Given the description of an element on the screen output the (x, y) to click on. 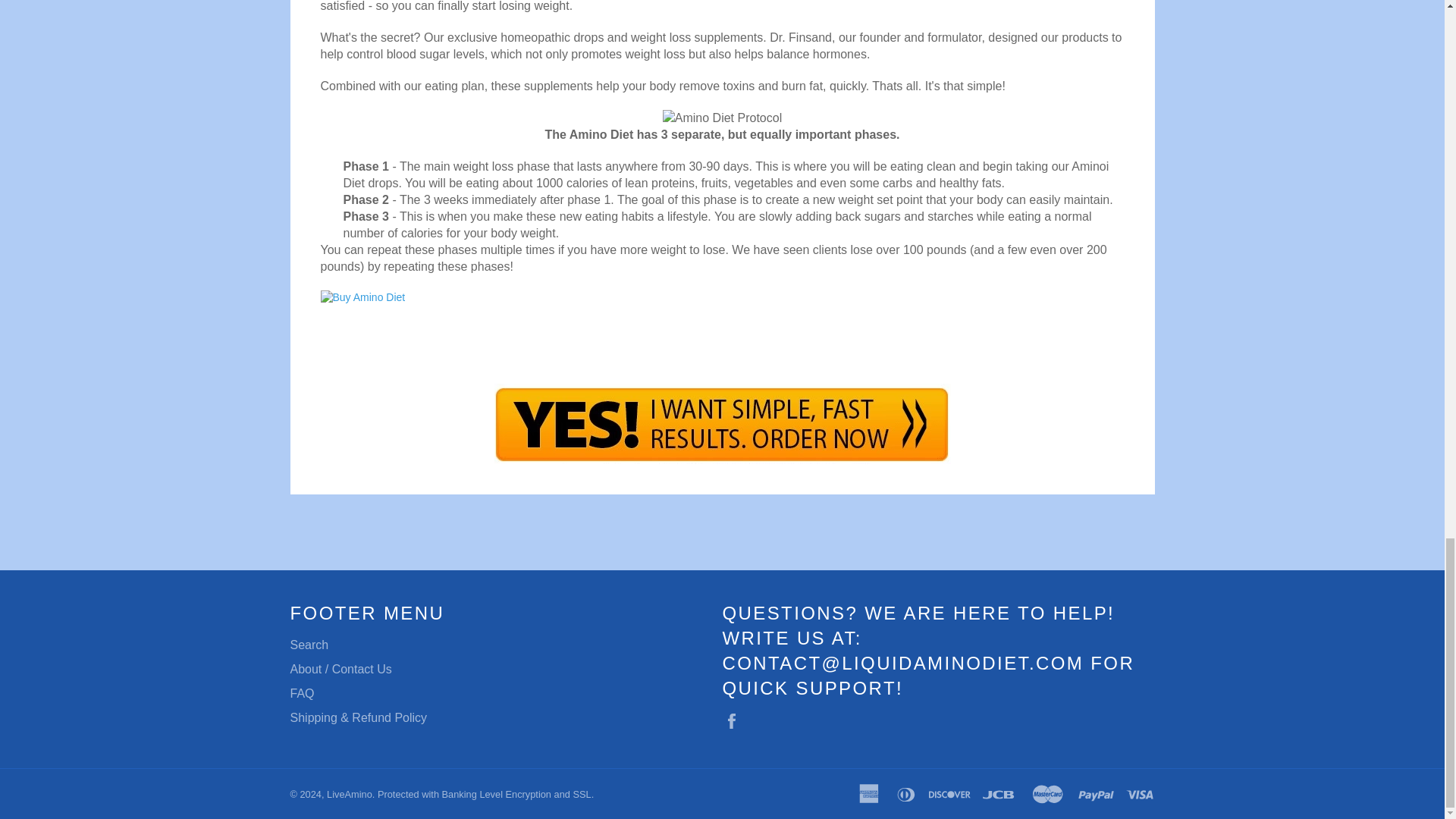
LiveAmino on Facebook (735, 720)
Facebook (735, 720)
FAQ (301, 693)
Search (309, 644)
LiveAmino (349, 794)
